Given the description of an element on the screen output the (x, y) to click on. 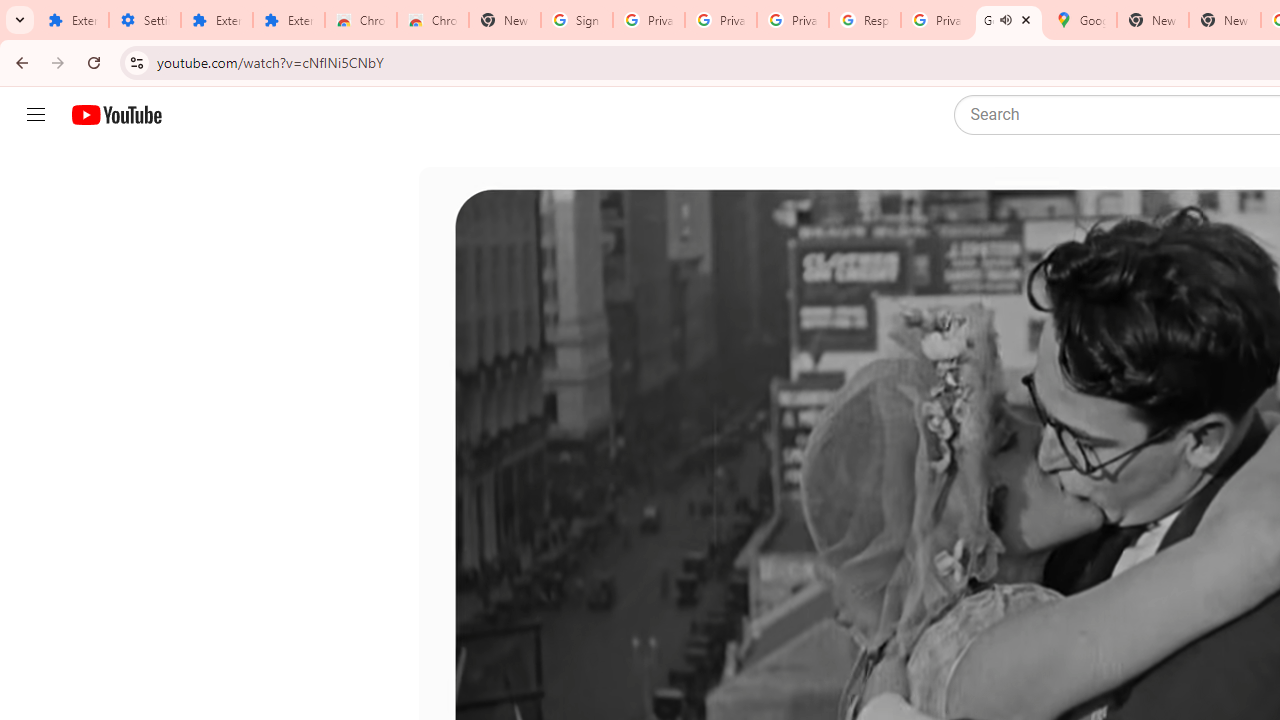
New Tab (1224, 20)
Google Maps (1080, 20)
Extensions (289, 20)
New Tab (504, 20)
Chrome Web Store - Themes (432, 20)
